Given the description of an element on the screen output the (x, y) to click on. 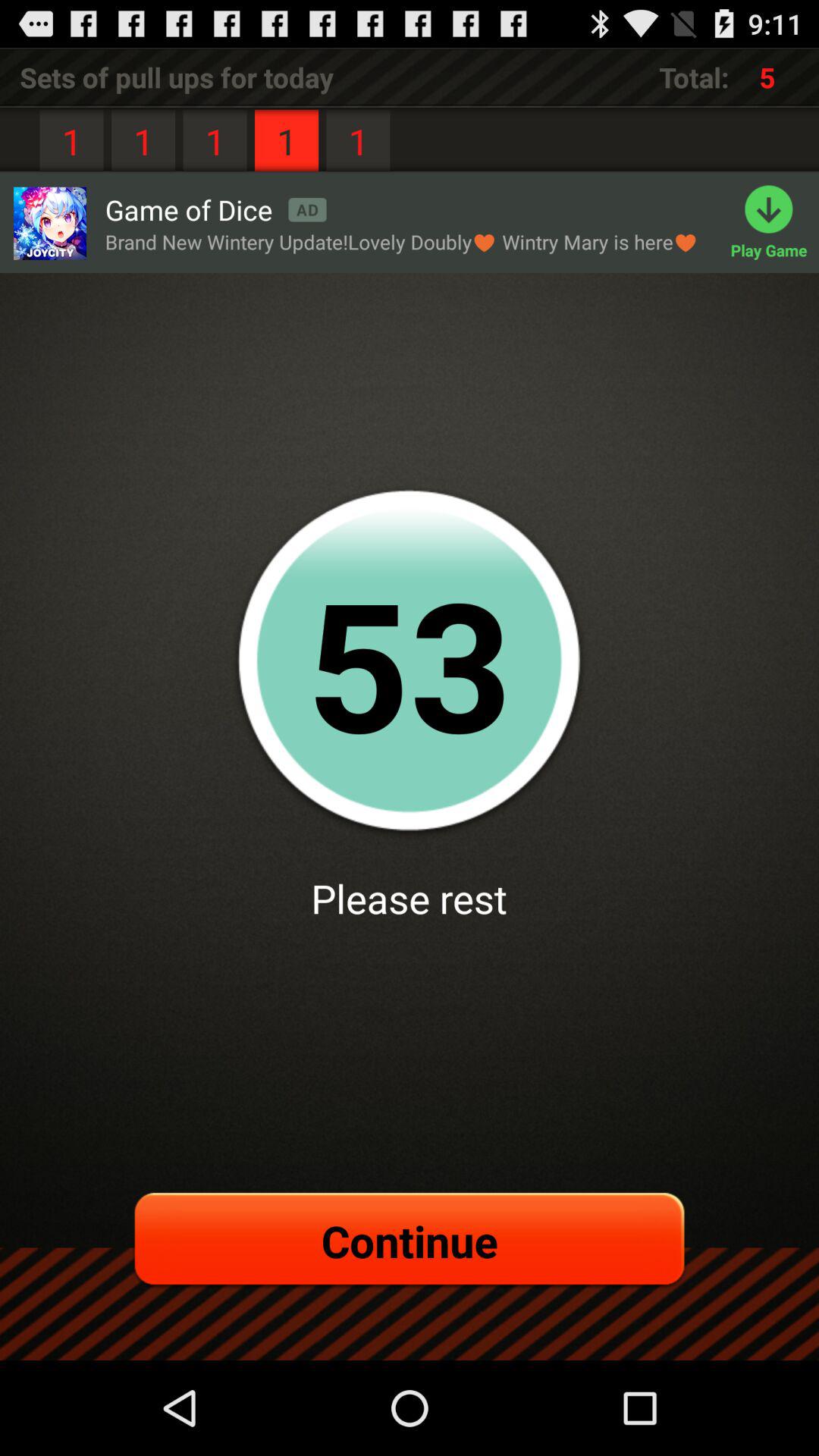
jump until game of dice (215, 209)
